Given the description of an element on the screen output the (x, y) to click on. 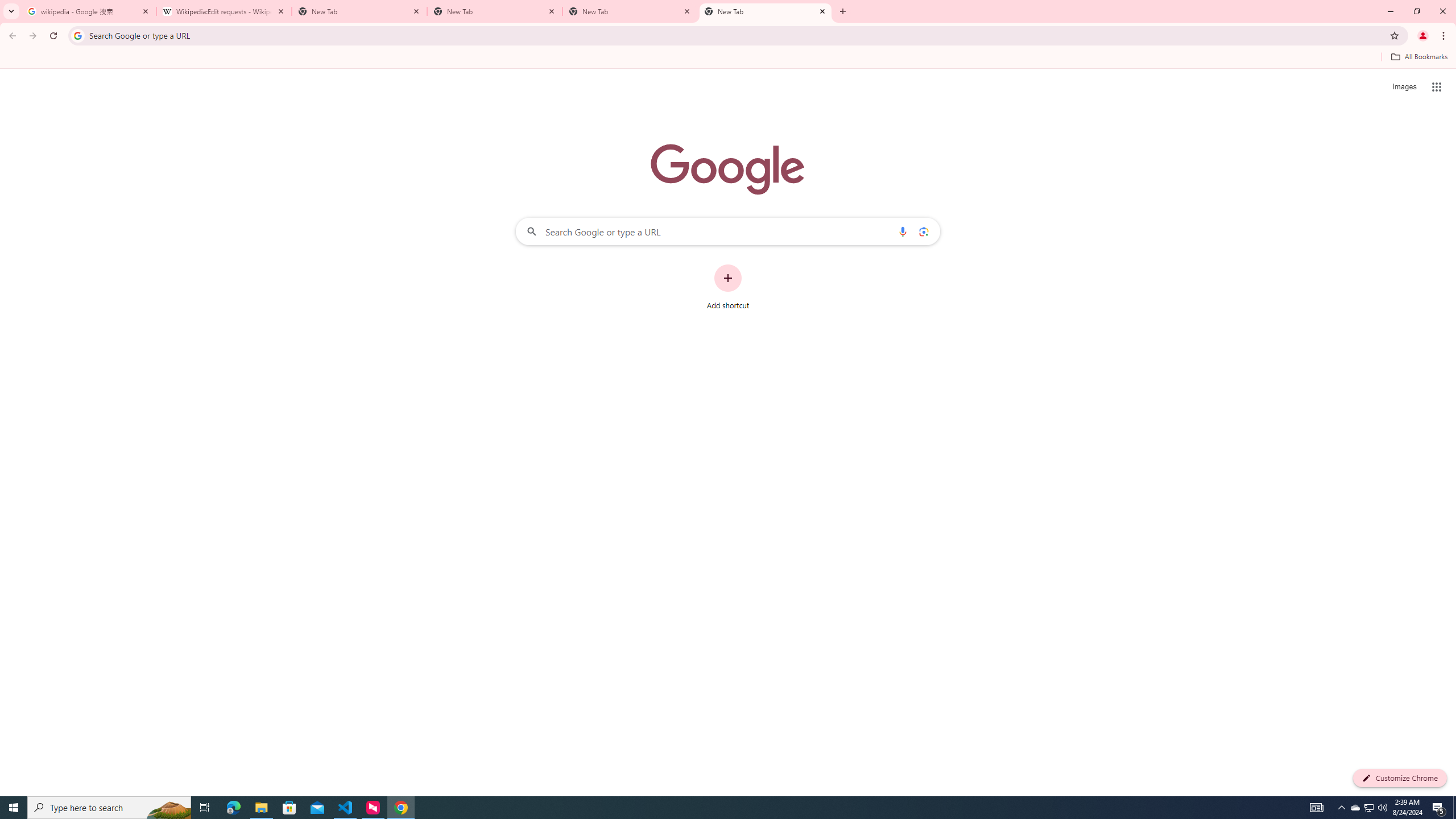
Wikipedia:Edit requests - Wikipedia (224, 11)
